Given the description of an element on the screen output the (x, y) to click on. 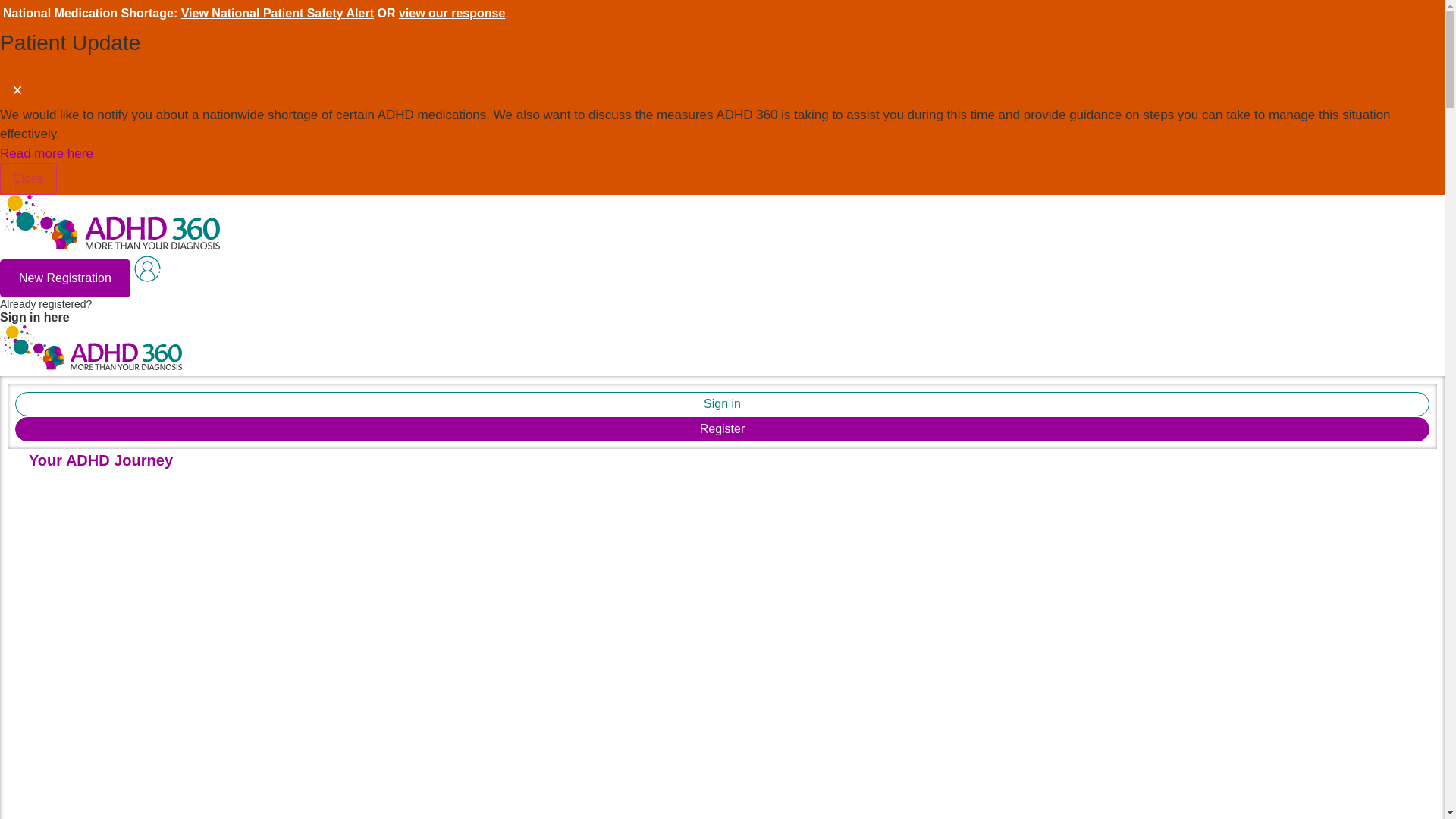
Your ADHD Journey (100, 460)
Sign in (721, 404)
Read more here (46, 153)
Close (28, 178)
ADHD 360 Logo (432, 295)
Register (91, 347)
ADHD 360 Logo (721, 428)
New Registration (109, 221)
View National Patient Safety Alert (65, 278)
Sign In (275, 12)
